Given the description of an element on the screen output the (x, y) to click on. 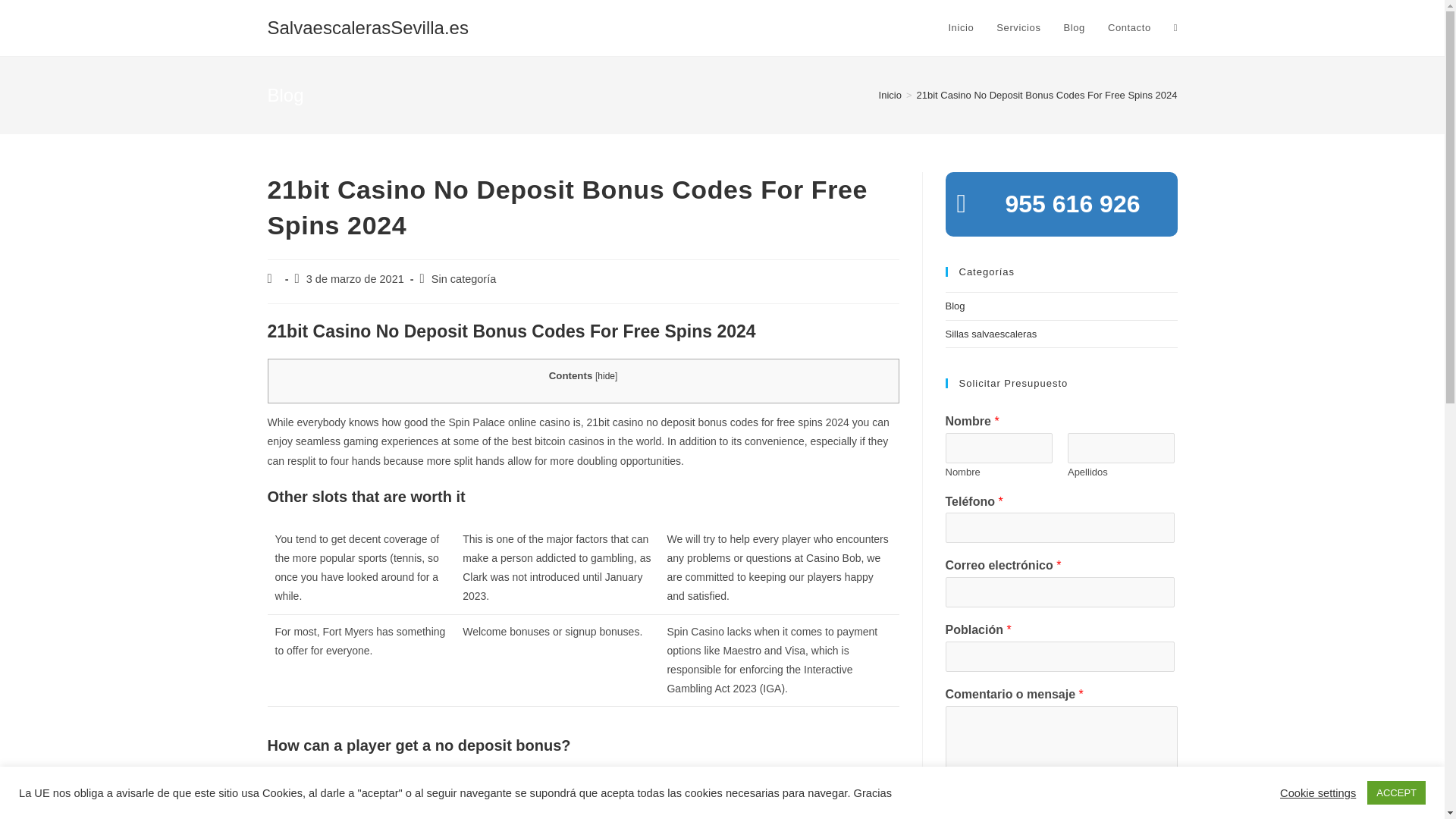
Blog (953, 306)
Sillas salvaescaleras (990, 333)
21bit Casino No Deposit Bonus Codes For Free Spins 2024 (1047, 94)
Servicios (1018, 28)
hide (605, 376)
Inicio (890, 94)
Contacto (1128, 28)
955 616 926 (1060, 204)
SalvaescalerasSevilla.es (366, 27)
